Given the description of an element on the screen output the (x, y) to click on. 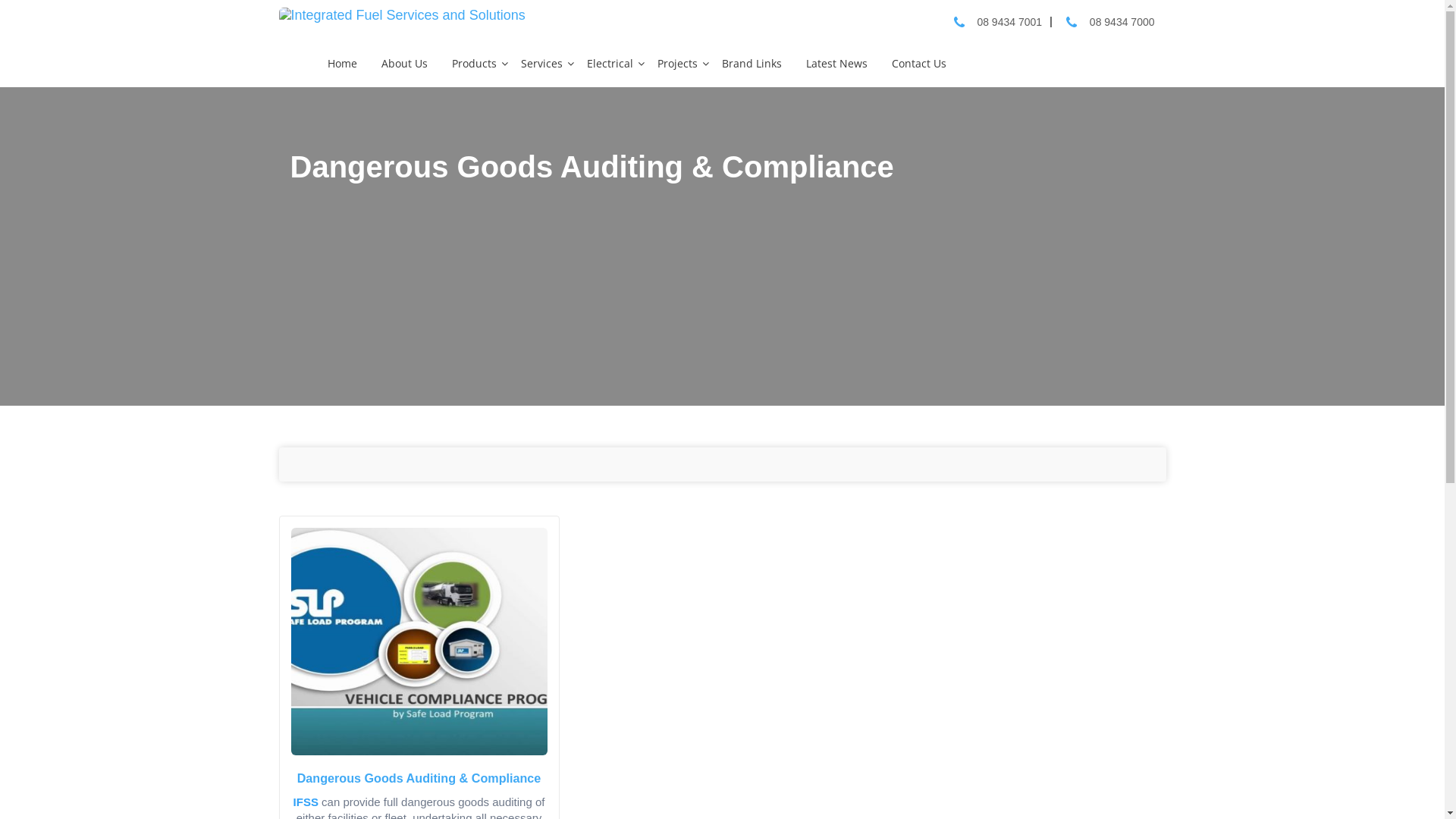
08 9434 7000 Element type: text (1121, 21)
08 9434 7001 Element type: text (1008, 21)
Services Element type: text (542, 63)
Electrical Element type: text (610, 63)
Dangerous Goods Auditing & Compliance Element type: text (419, 777)
Home Element type: text (343, 63)
Contact Us Element type: text (919, 63)
Products Element type: text (474, 63)
Projects Element type: text (678, 63)
Integrated Fuel Services and Solutions Element type: hover (402, 14)
Latest News Element type: text (837, 63)
About Us Element type: text (405, 63)
Brand Links Element type: text (752, 63)
